Given the description of an element on the screen output the (x, y) to click on. 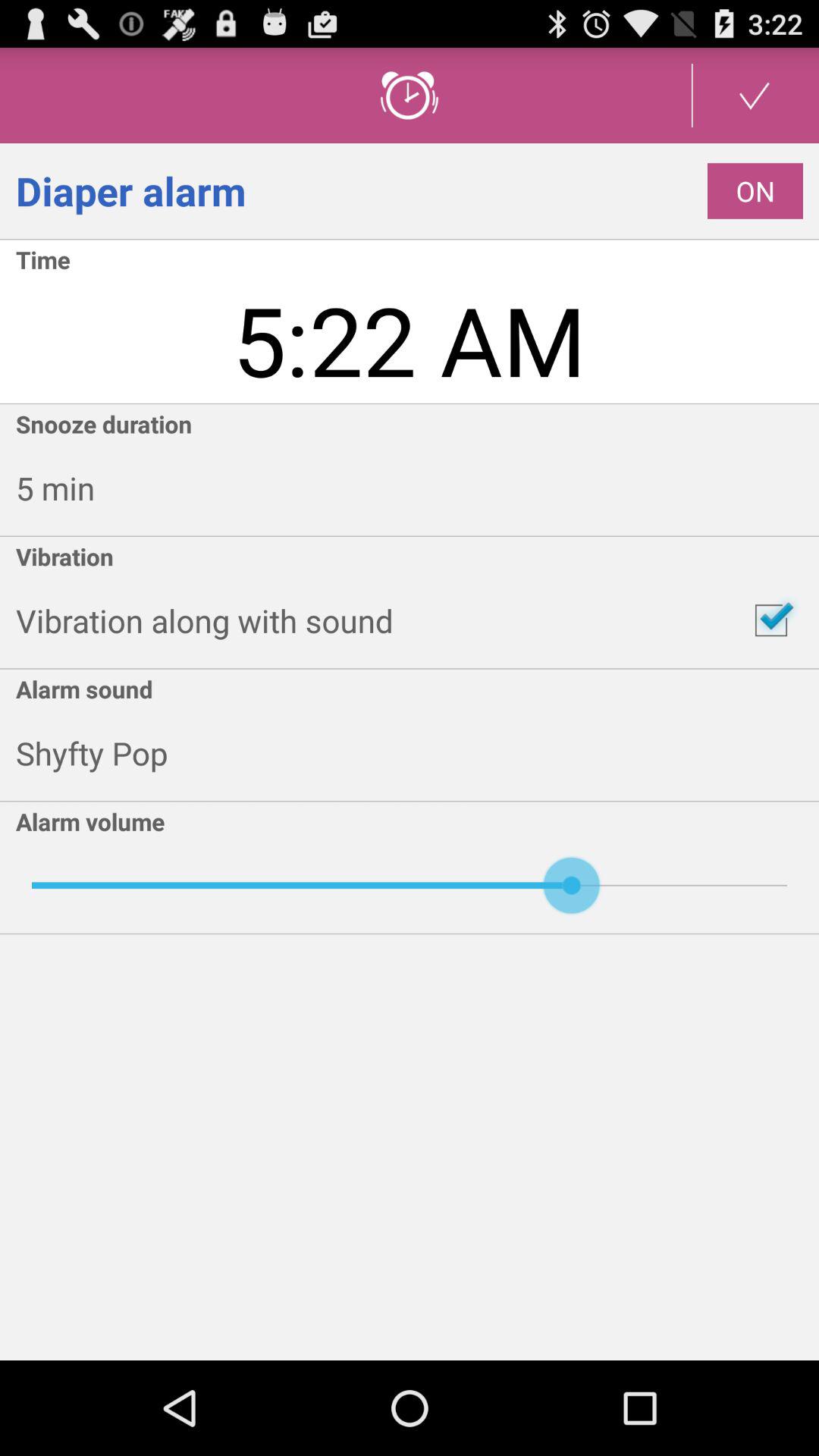
swipe until 5 min item (417, 487)
